Given the description of an element on the screen output the (x, y) to click on. 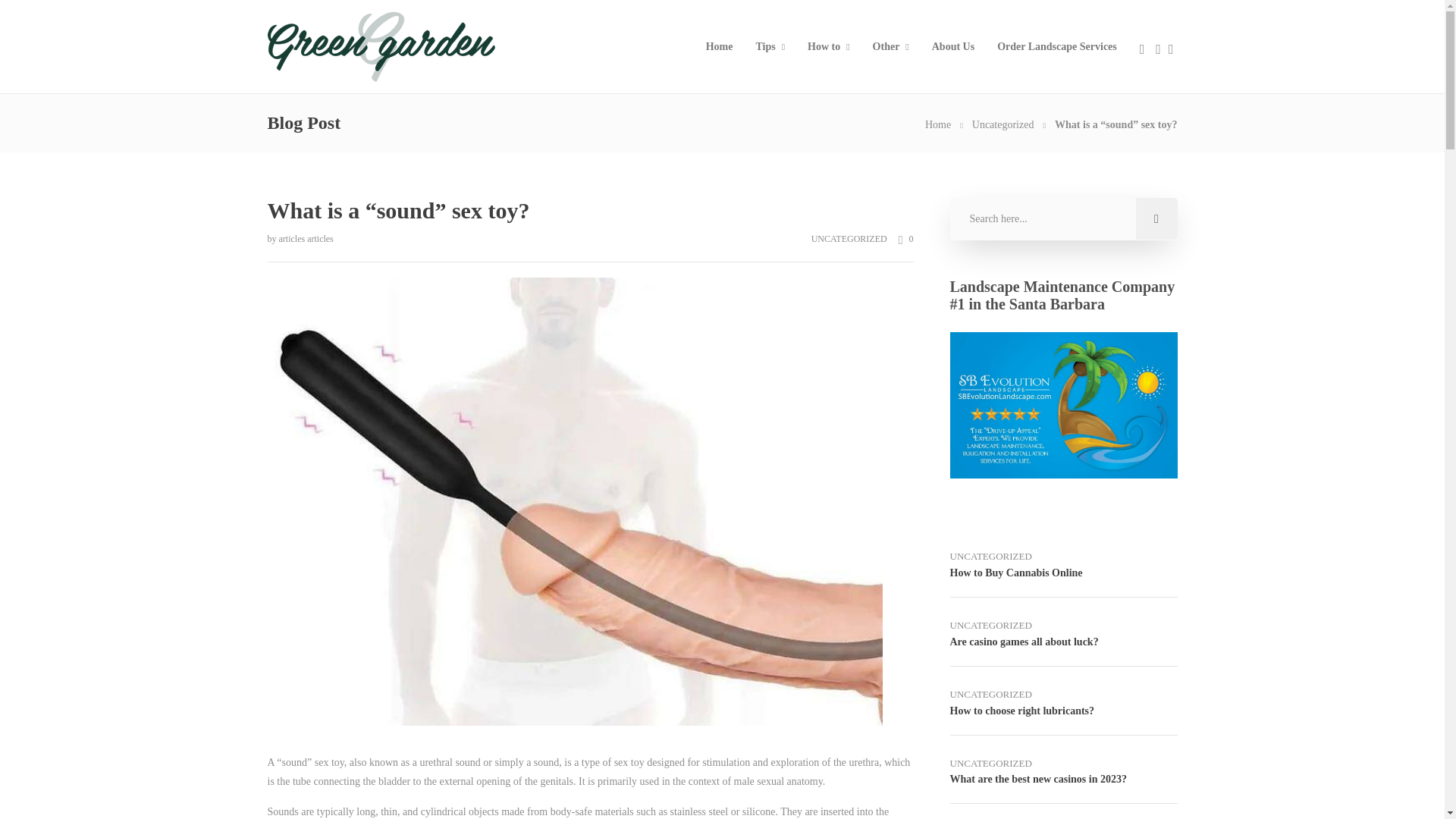
Home (937, 124)
Order Landscape Services (1056, 47)
Search text (1062, 219)
